Given the description of an element on the screen output the (x, y) to click on. 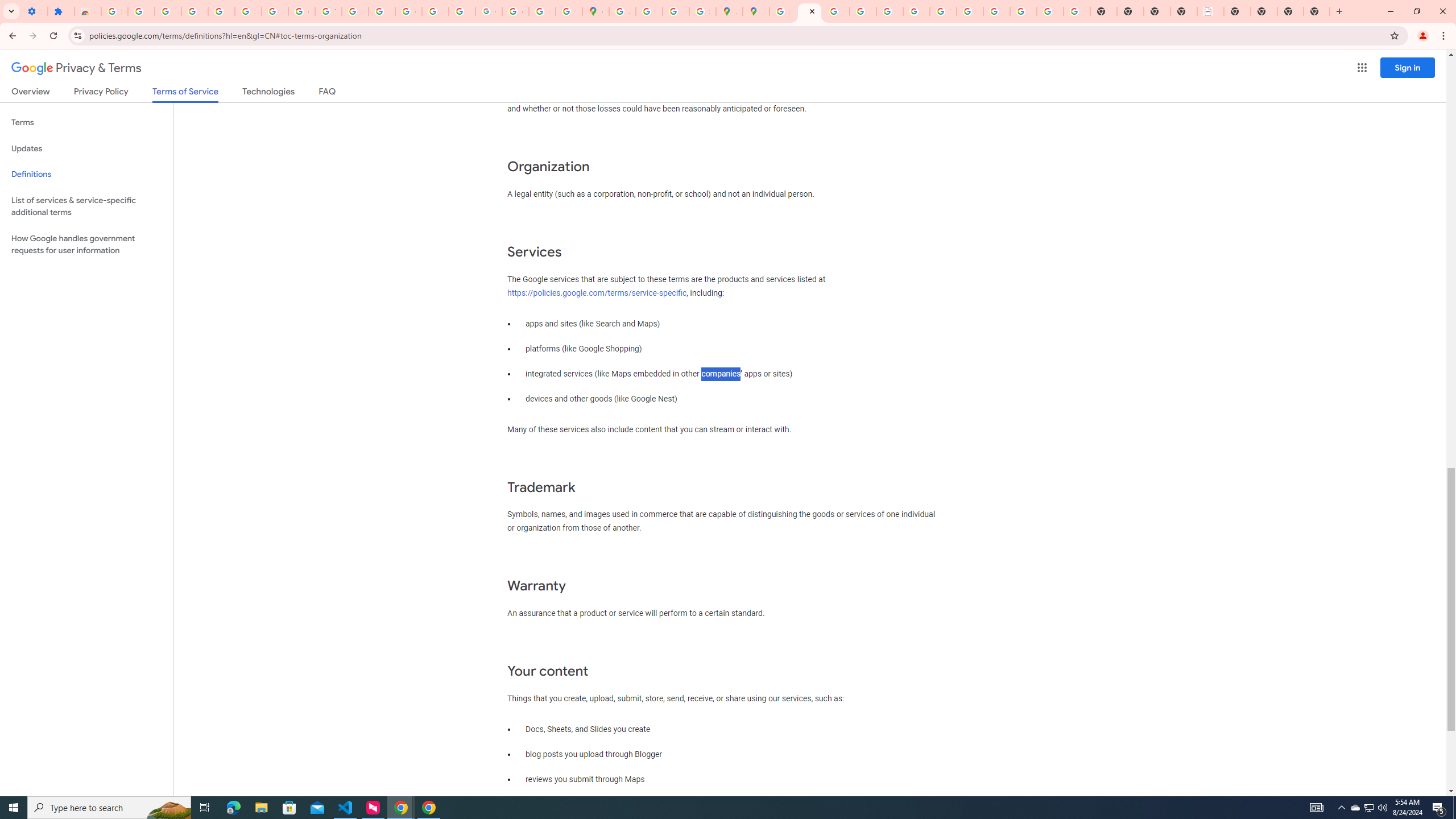
Reviews: Helix Fruit Jump Arcade Game (87, 11)
FAQ (327, 93)
Extensions (61, 11)
https://policies.google.com/terms/service-specific (596, 292)
Sign in - Google Accounts (248, 11)
